Given the description of an element on the screen output the (x, y) to click on. 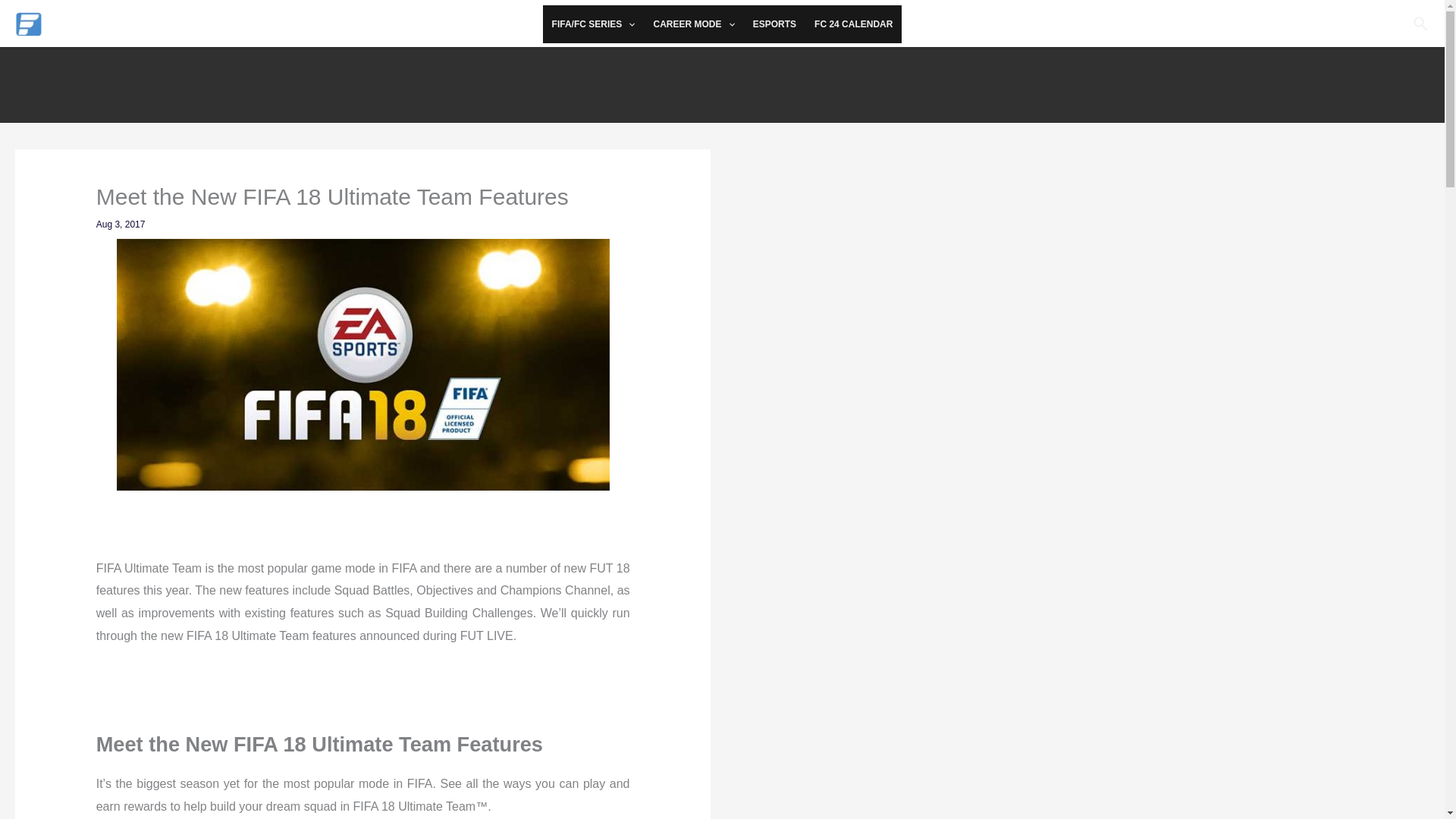
CAREER MODE (692, 23)
FC 24 CALENDAR (853, 23)
Advertisement (1092, 266)
ESPORTS (774, 23)
Advertisement (721, 80)
